Given the description of an element on the screen output the (x, y) to click on. 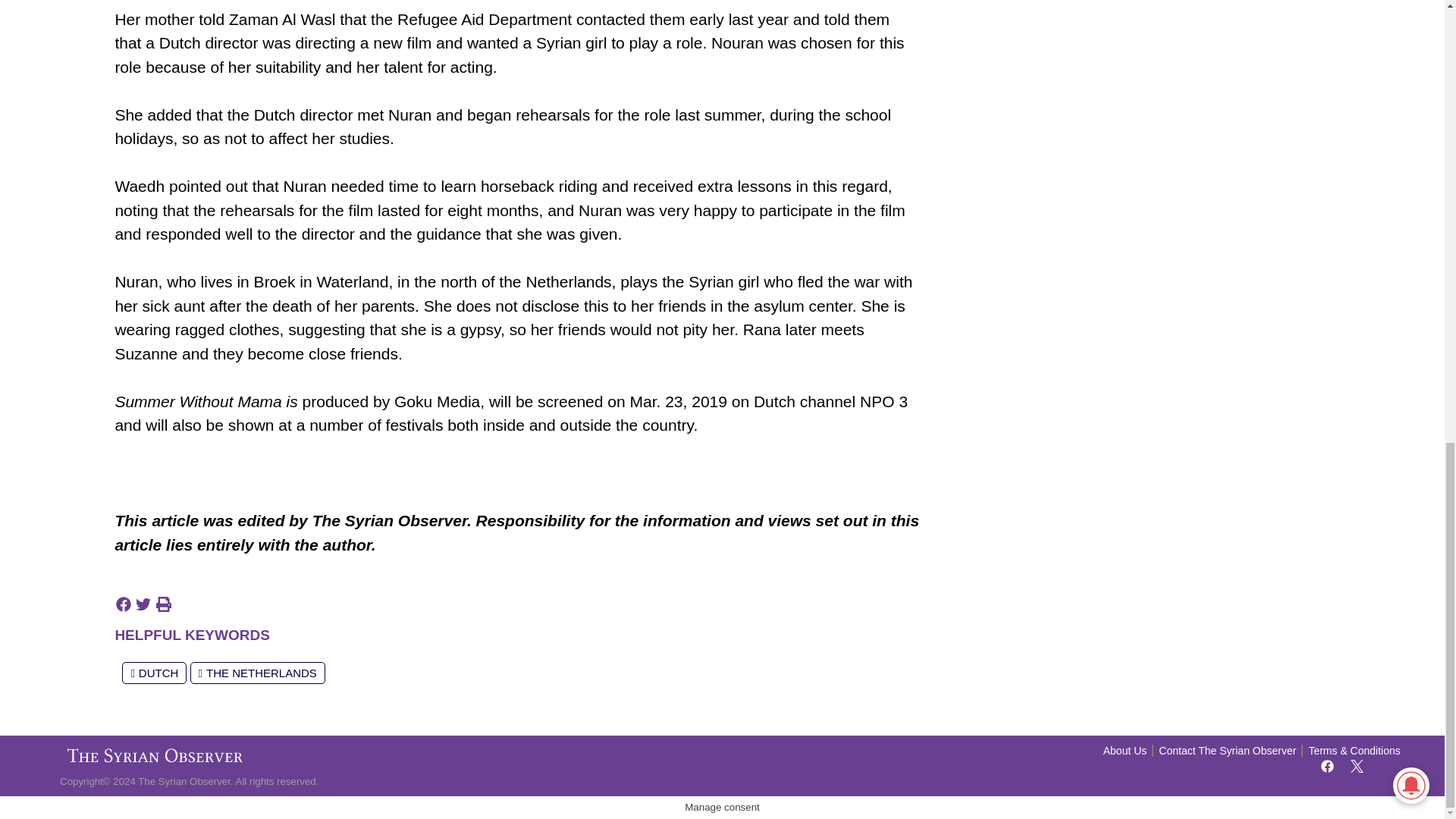
THE NETHERLANDS (257, 672)
About Us (1125, 750)
Contact The Syrian Observer (1227, 750)
DUTCH (154, 672)
